Given the description of an element on the screen output the (x, y) to click on. 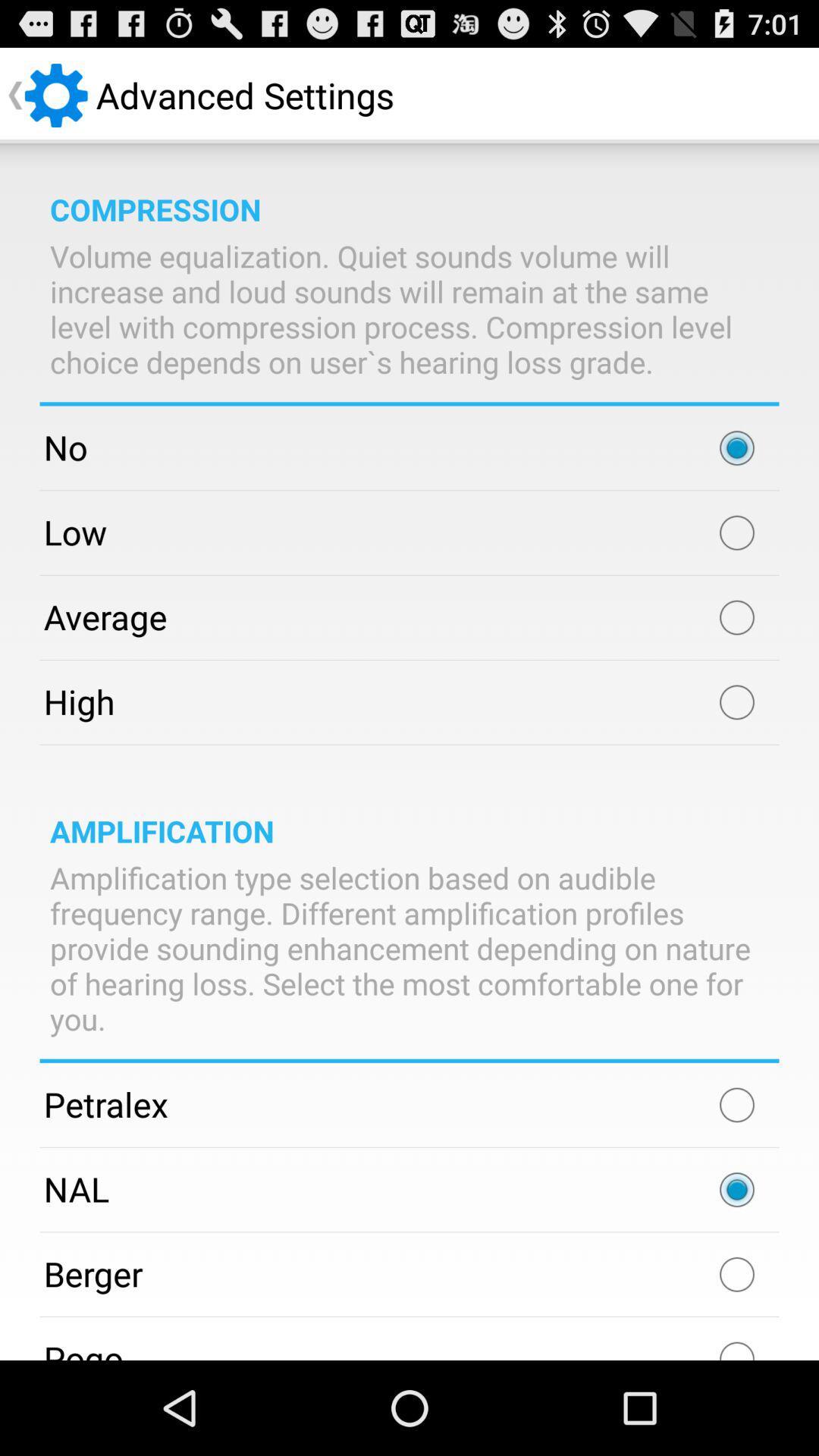
toggle no option (736, 448)
